Given the description of an element on the screen output the (x, y) to click on. 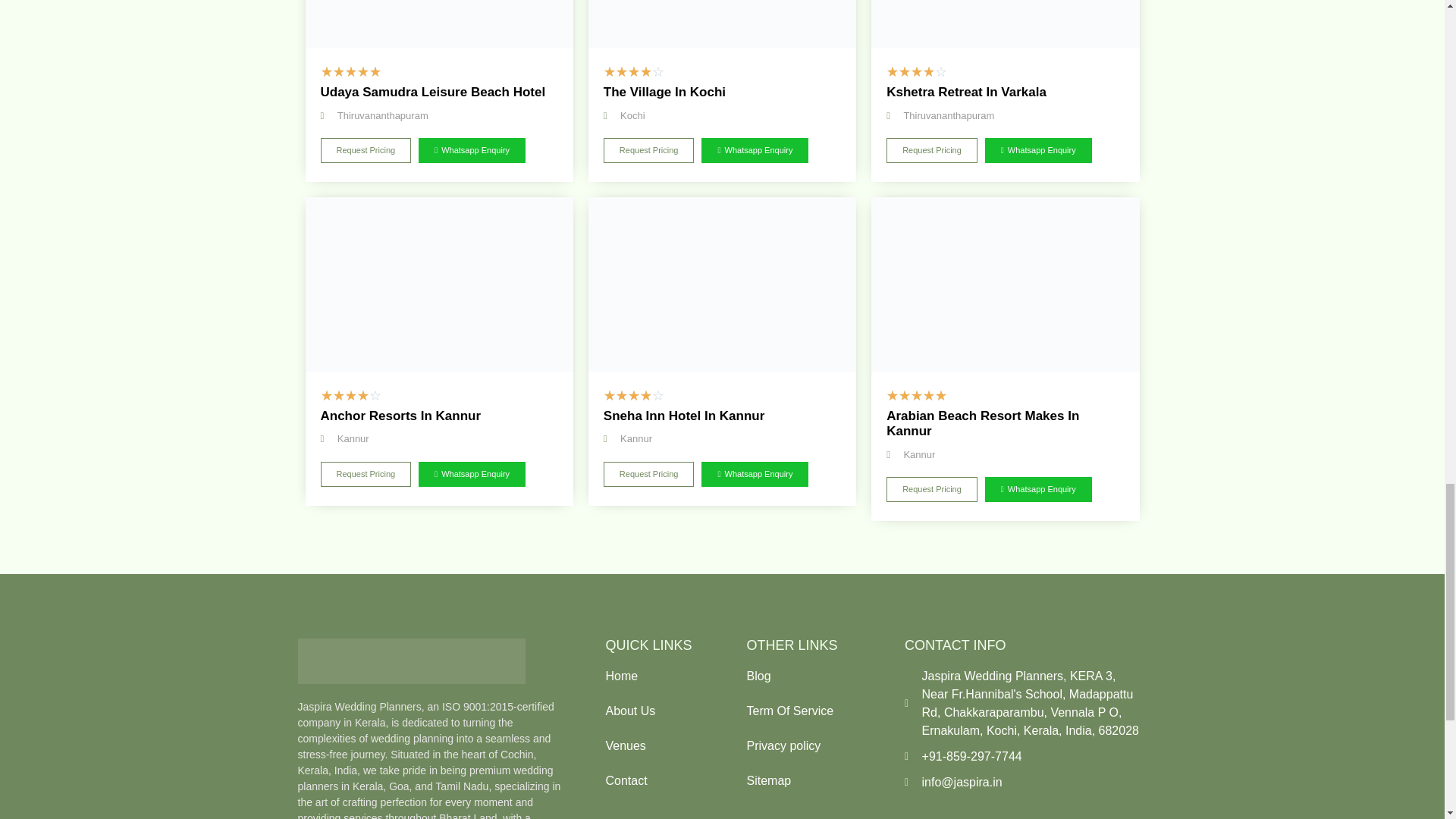
Kshetra Retreat In Varkala (1004, 24)
Arabian Beach Resort Makes W (1004, 284)
Anchor Resorts In Kannur (438, 284)
Udaya Samudra Leisure Beach Hotel (438, 24)
Sneha Inn, Kannur W (722, 284)
The Village In Kochi W (722, 24)
